Given the description of an element on the screen output the (x, y) to click on. 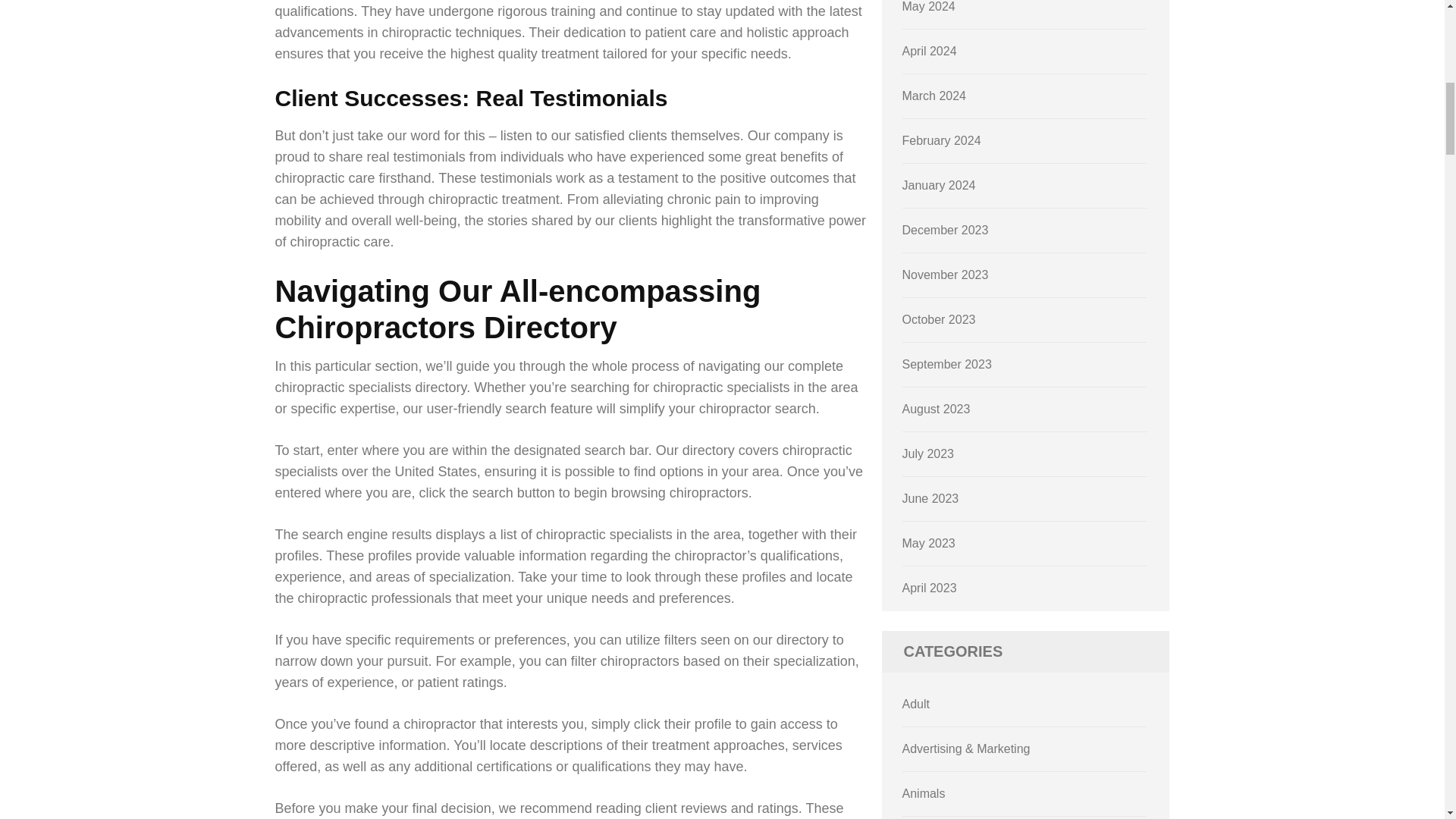
Adult (916, 703)
May 2024 (928, 6)
July 2023 (928, 453)
October 2023 (938, 318)
November 2023 (945, 274)
March 2024 (934, 95)
April 2024 (929, 51)
June 2023 (930, 498)
August 2023 (936, 408)
April 2023 (929, 587)
